Given the description of an element on the screen output the (x, y) to click on. 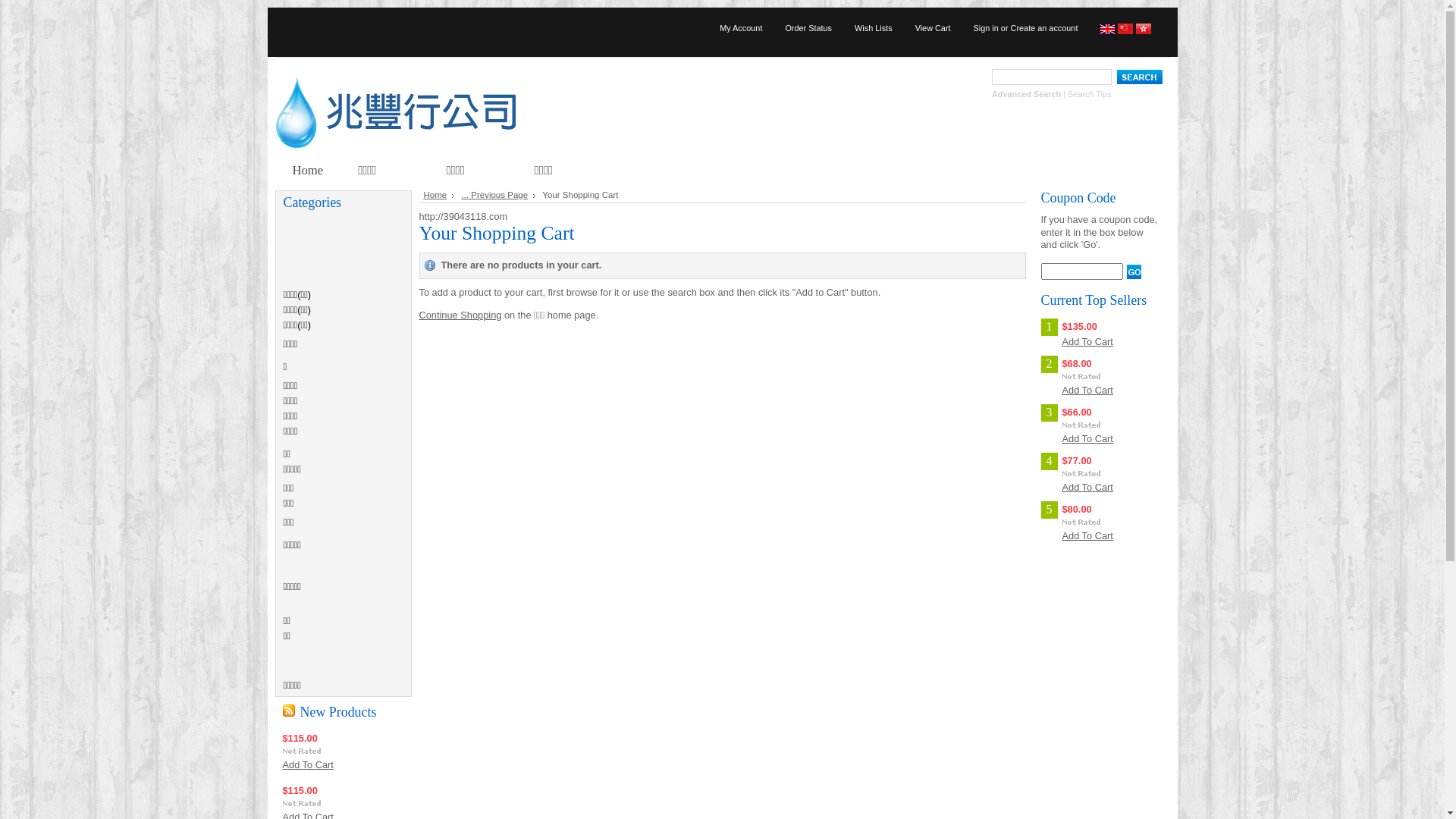
Add To Cart Element type: text (1086, 341)
View Cart Element type: text (932, 27)
Add To Cart Element type: text (1086, 486)
English Element type: hover (1107, 30)
Search Tips Element type: text (1088, 93)
Order Status Element type: text (808, 27)
Advanced Search Element type: text (1025, 93)
New Products RSS Feed Element type: hover (288, 710)
Add To Cart Element type: text (1086, 535)
Sign in Element type: text (985, 27)
My Account Element type: text (740, 27)
Wish Lists Element type: text (873, 27)
Home Element type: text (438, 194)
Add To Cart Element type: text (1086, 438)
... Previous Page Element type: text (498, 194)
Continue Shopping Element type: text (459, 314)
Home Element type: text (307, 171)
Add To Cart Element type: text (1086, 389)
Add To Cart Element type: text (307, 764)
Create an account Element type: text (1044, 27)
